Given the description of an element on the screen output the (x, y) to click on. 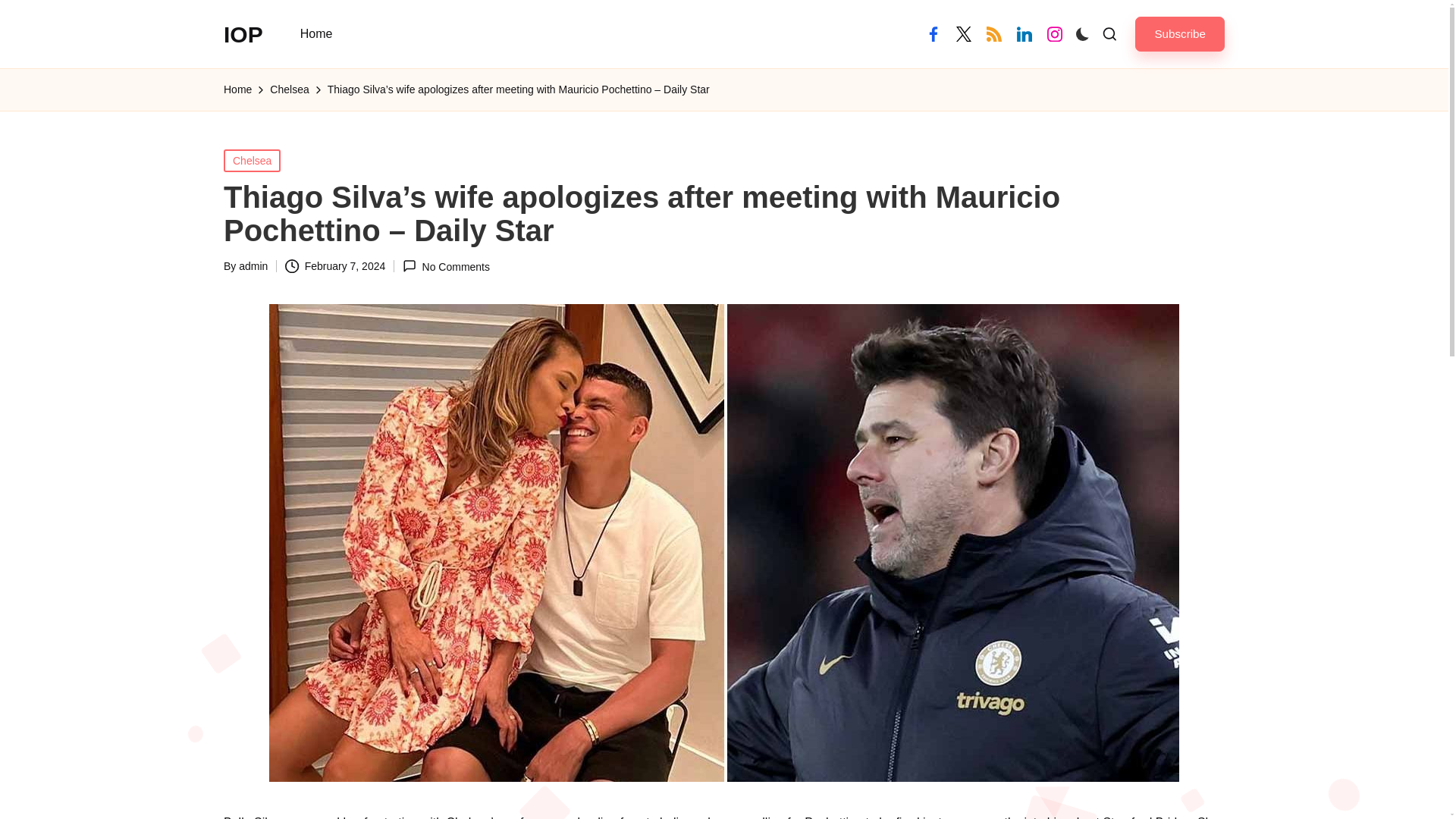
View all posts by admin (252, 265)
admin (252, 265)
twitter.com (963, 33)
IOP (243, 33)
rss.com (994, 33)
Chelsea (252, 159)
Home (237, 89)
instagram.com (1054, 33)
Subscribe (1179, 33)
Chelsea (288, 89)
Home (316, 33)
facebook.com (933, 33)
No Comments (446, 266)
linkedin.com (1023, 33)
